Given the description of an element on the screen output the (x, y) to click on. 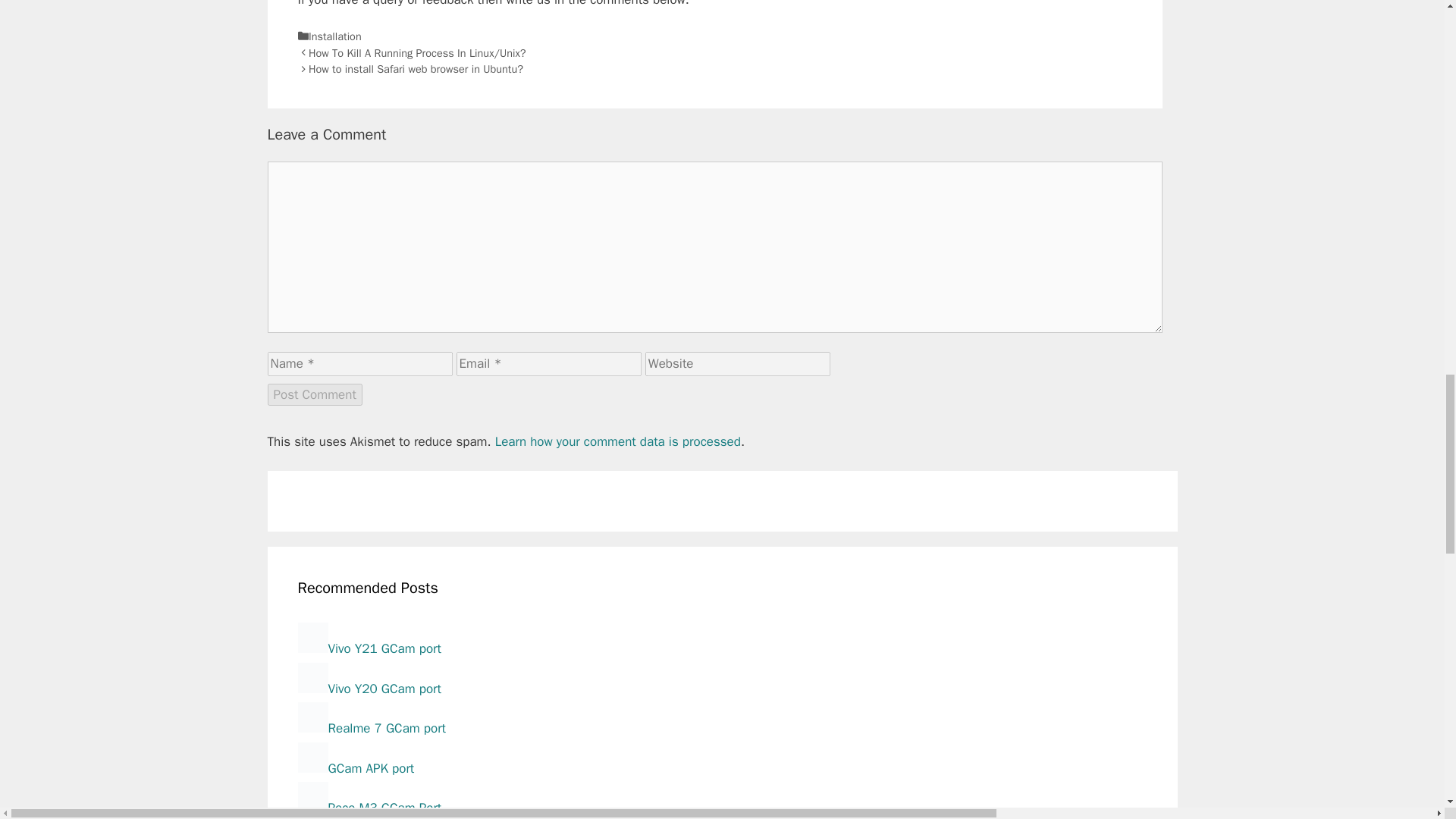
Download GCam port for Poco M3 Download (369, 807)
Learn how your comment data is processed (618, 441)
GCam port download (355, 768)
Download Google Camera apk port for Realme 7 (371, 728)
Post Comment (313, 394)
Download Google Camera apk port for vivo Y21 (369, 648)
How to install Safari web browser in Ubuntu? (415, 69)
Download Google Camera apk port for vivo Y20 (369, 688)
Realme 7 GCam port (371, 728)
Vivo Y21 GCam port (369, 648)
